Given the description of an element on the screen output the (x, y) to click on. 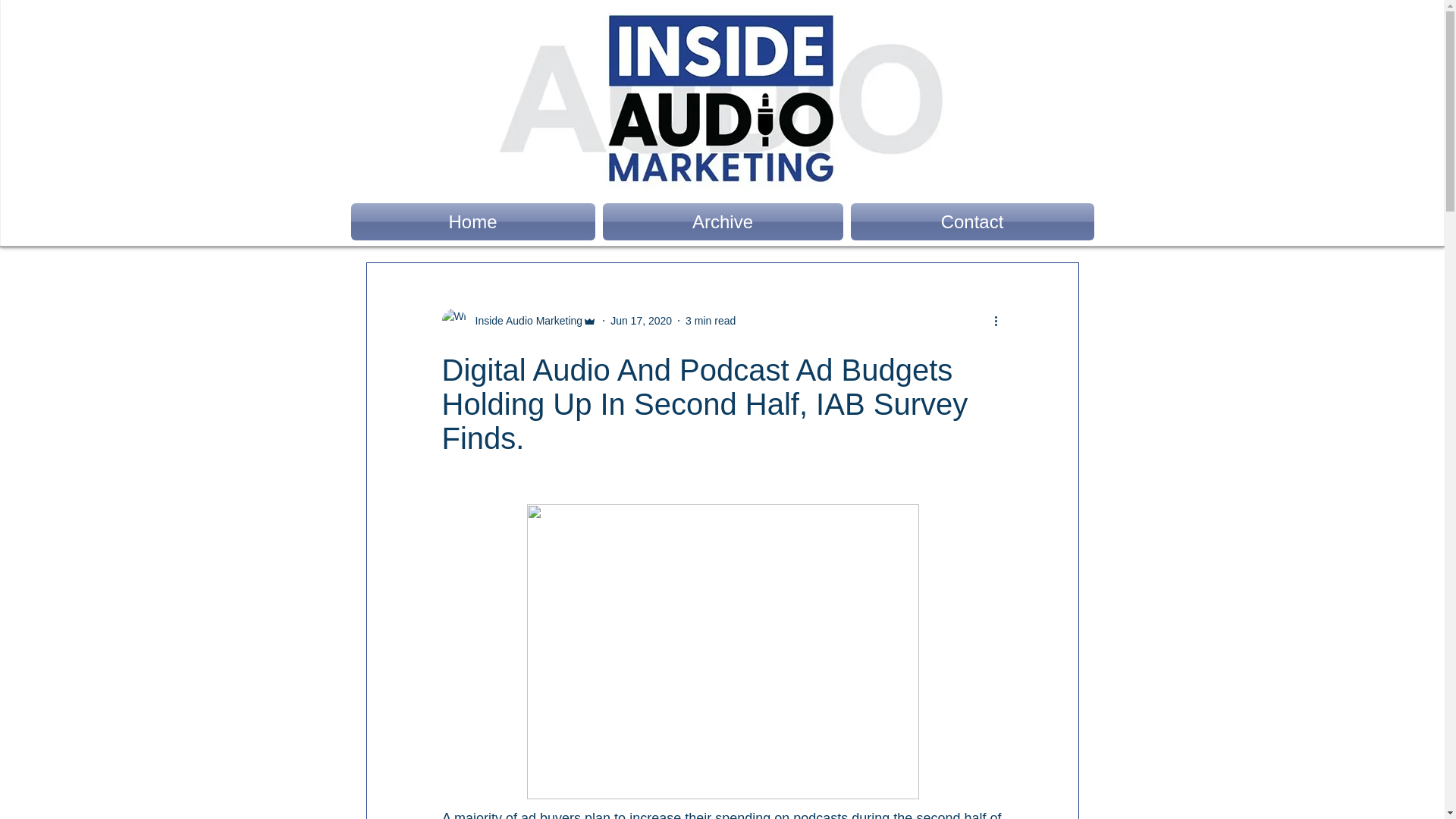
Archive (722, 221)
Home (474, 221)
Inside Audio Marketing (518, 320)
3 min read (710, 319)
Contact (969, 221)
Jun 17, 2020 (640, 319)
Inside Audio Marketing (523, 320)
